Given the description of an element on the screen output the (x, y) to click on. 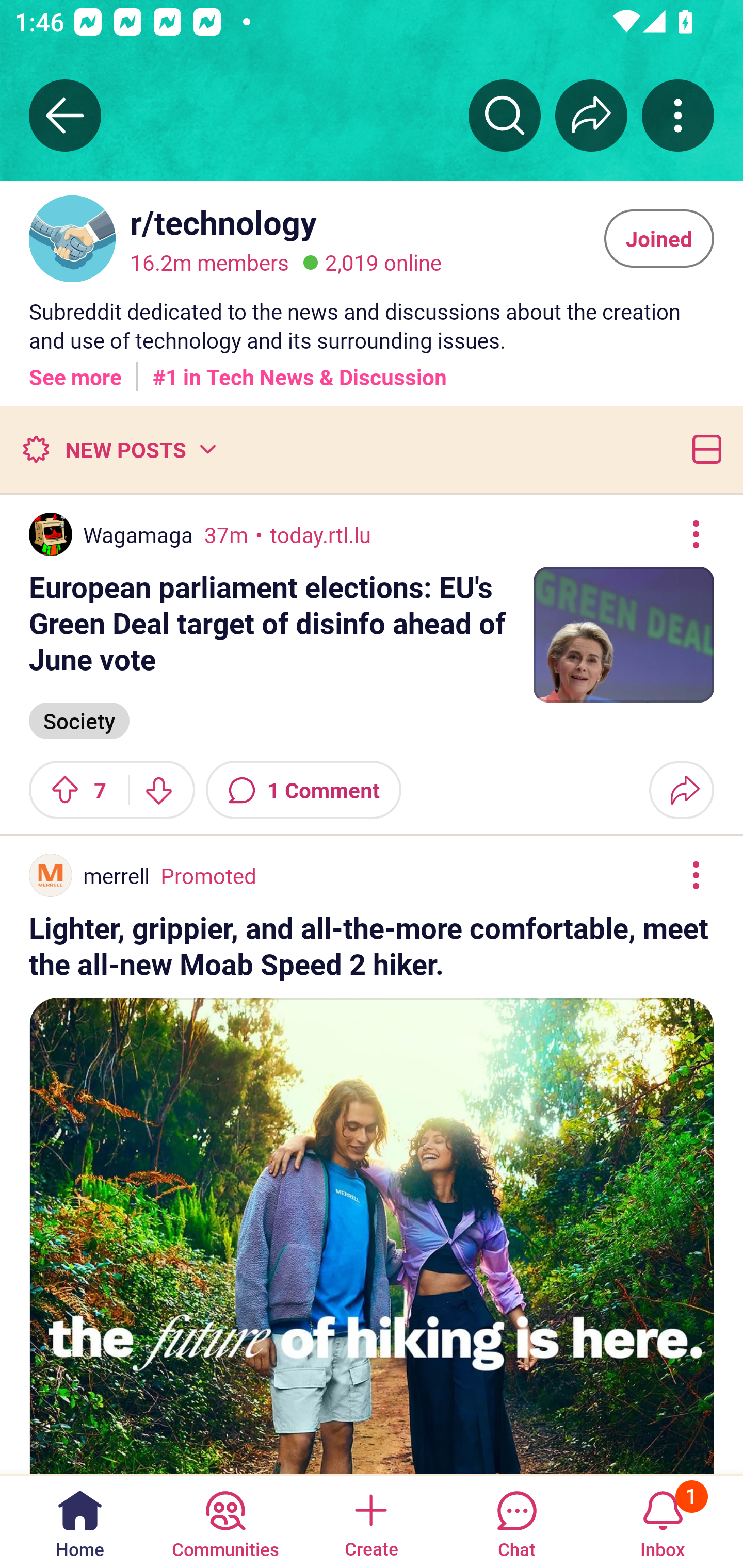
Back (64, 115)
Search r/﻿technology (504, 115)
Share r/﻿technology (591, 115)
More community actions (677, 115)
New posts NEW POSTS (118, 449)
Card (703, 449)
Society (78, 718)
Home (80, 1520)
Communities (225, 1520)
Create a post Create (370, 1520)
Chat (516, 1520)
Inbox, has 1 notification 1 Inbox (662, 1520)
